Given the description of an element on the screen output the (x, y) to click on. 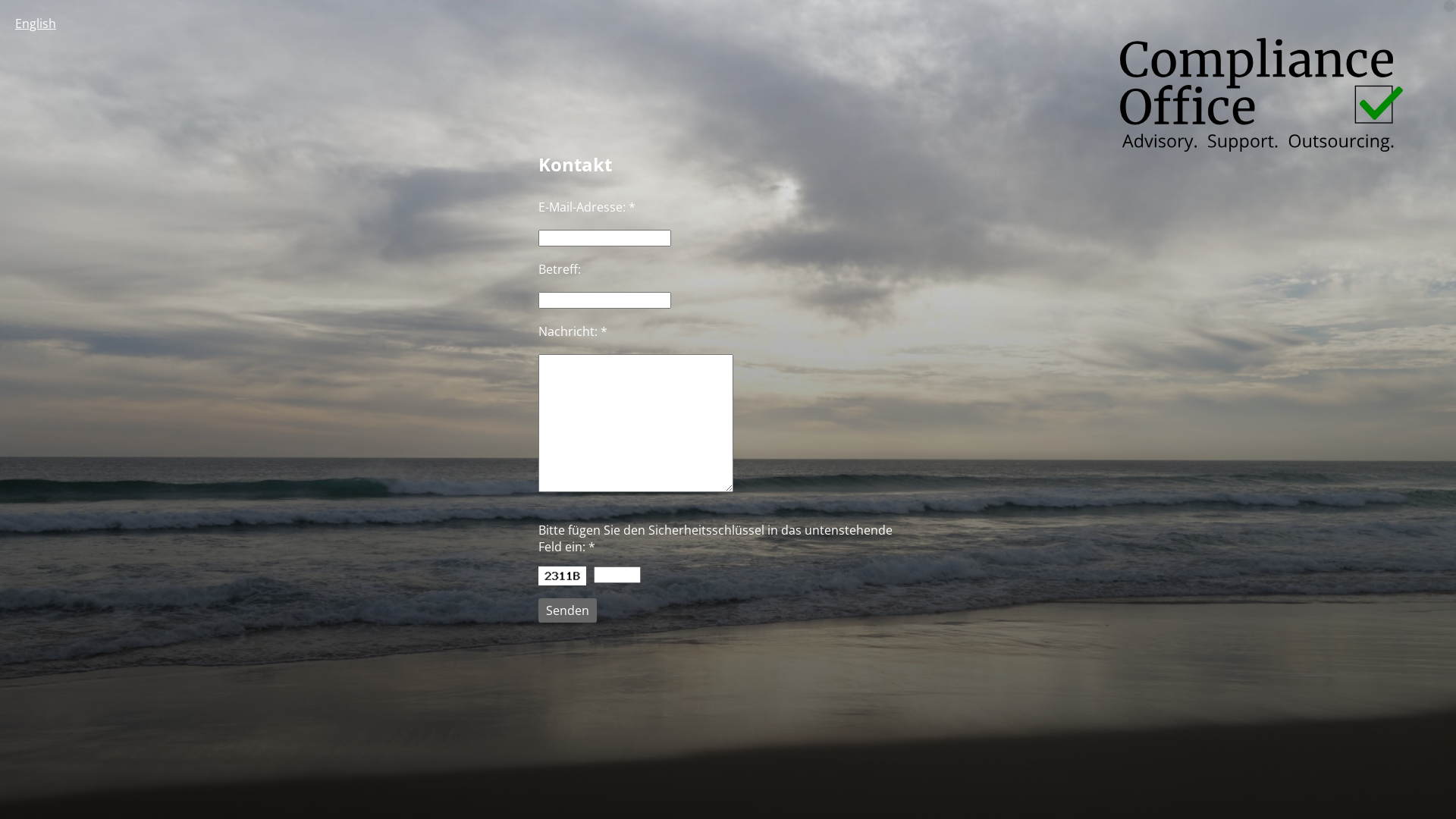
Senden Element type: text (567, 610)
English Element type: text (35, 23)
